Given the description of an element on the screen output the (x, y) to click on. 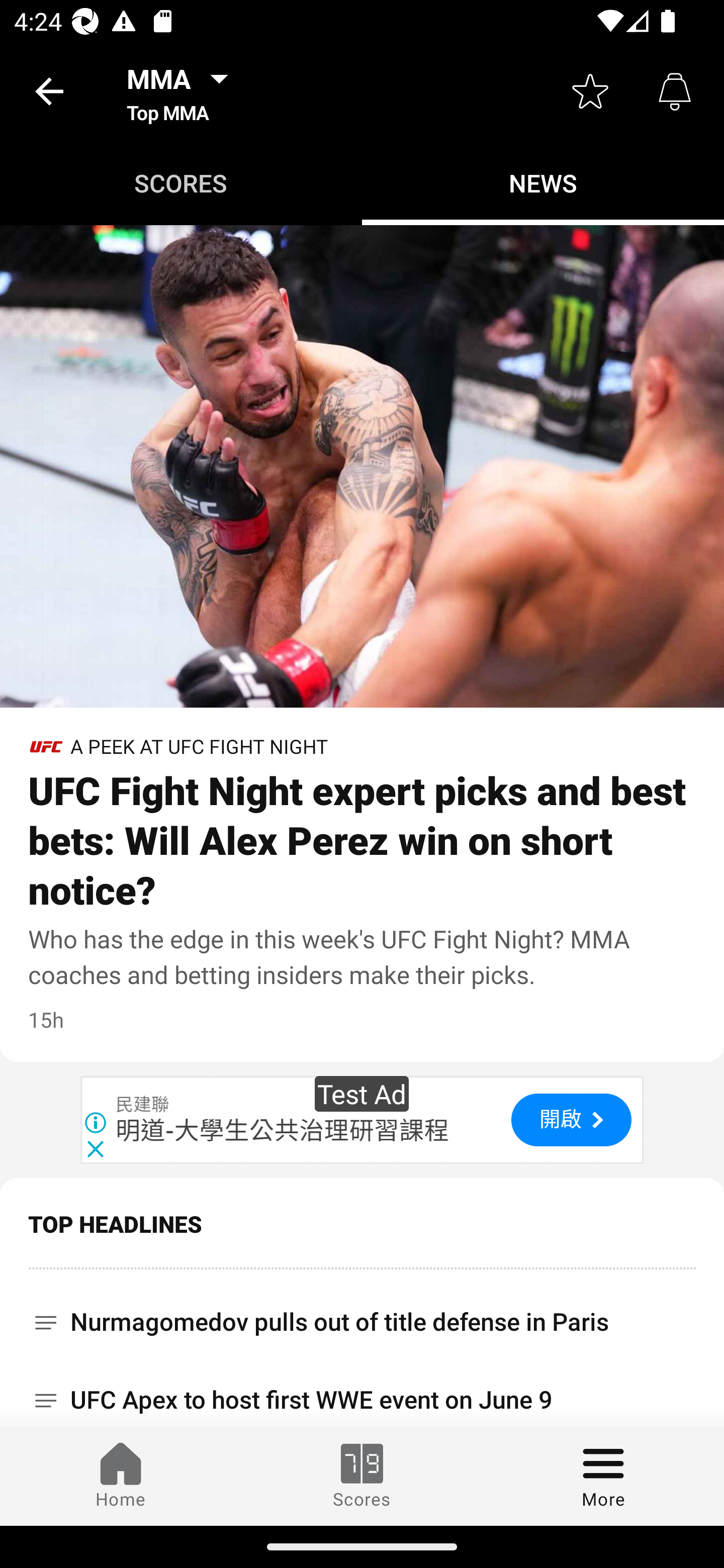
MMA Top MMA (183, 90)
Favorite toggle (590, 90)
Alerts (674, 90)
Scores SCORES (181, 183)
民建聯 (142, 1104)
開啟 (570, 1119)
明道-大學生公共治理研習課程 (282, 1130)
 Nurmagomedov pulls out of title defense in Paris (362, 1315)
 UFC Apex to host first WWE event on June 9 (362, 1393)
Home (120, 1475)
Scores (361, 1475)
